Given the description of an element on the screen output the (x, y) to click on. 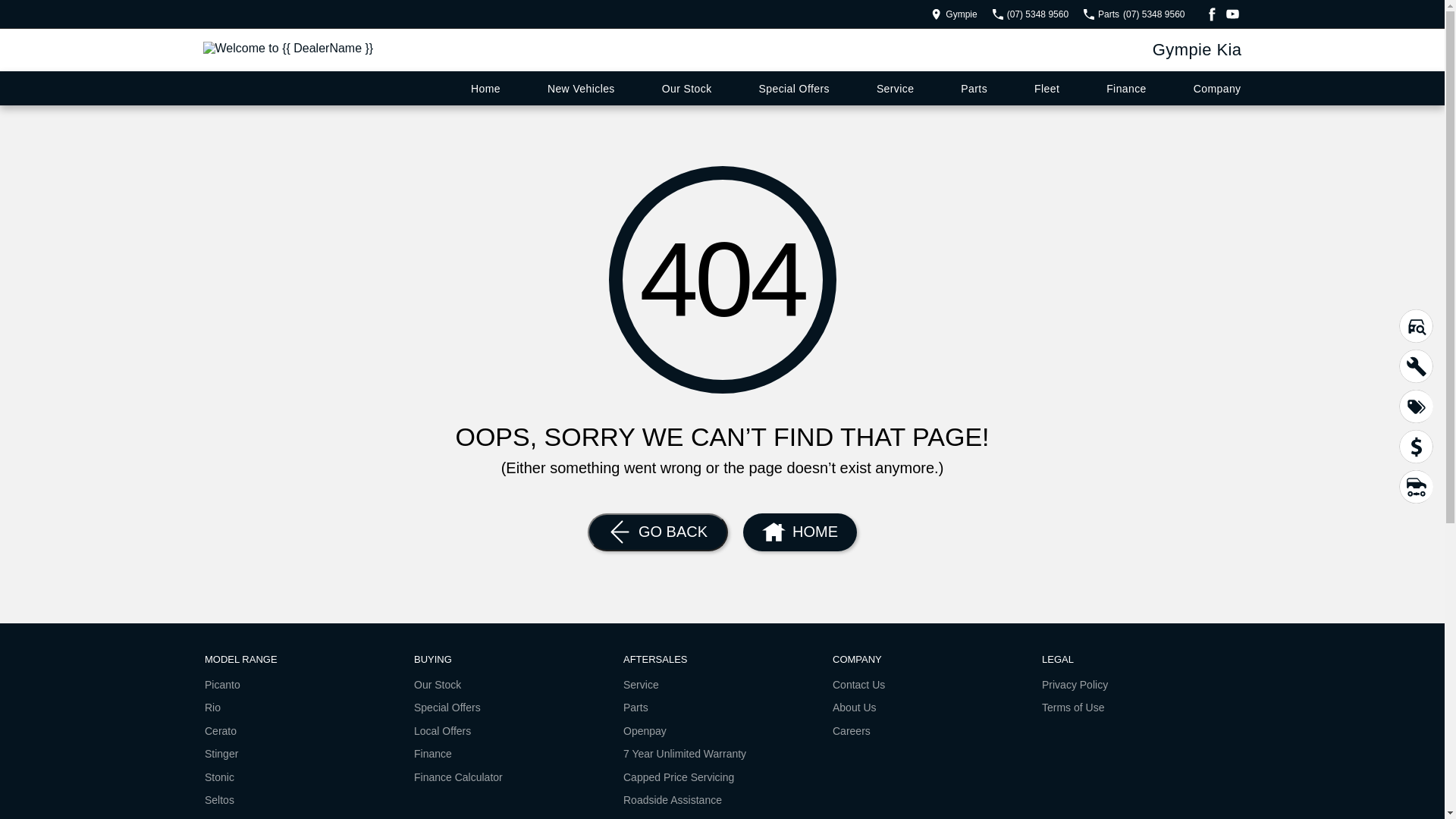
Special Offers Element type: text (793, 88)
New Vehicles Element type: text (581, 88)
Our Stock Element type: text (686, 88)
Service Element type: text (640, 687)
Stonic Element type: text (219, 779)
Local Offers Element type: text (442, 733)
Seltos Element type: text (219, 802)
Gympie Element type: text (953, 13)
Contact Us Element type: text (858, 687)
Home Element type: text (485, 88)
Finance Element type: text (432, 756)
Terms of Use Element type: text (1072, 707)
Careers Element type: text (851, 730)
Roadside Assistance Element type: text (672, 799)
Capped Price Servicing Element type: text (678, 779)
7 Year Unlimited Warranty Element type: text (684, 756)
Parts Element type: text (635, 710)
(07) 5348 9560 Element type: text (1030, 13)
Parts
(07) 5348 9560 Element type: text (1133, 13)
Cerato Element type: text (220, 733)
Stinger Element type: text (221, 756)
Rio Element type: text (212, 710)
GO BACK Element type: text (657, 532)
Finance Calculator Element type: text (458, 776)
Openpay Element type: text (644, 733)
Our Stock Element type: text (437, 687)
Service Element type: text (894, 88)
Finance Element type: text (1126, 88)
Picanto Element type: text (222, 687)
Parts Element type: text (973, 88)
Privacy Policy Element type: text (1074, 687)
Company Element type: text (1217, 88)
About Us Element type: text (854, 710)
Gympie Kia Element type: text (1197, 49)
HOME Element type: text (799, 532)
Special Offers Element type: text (447, 710)
Fleet Element type: text (1046, 88)
